Given the description of an element on the screen output the (x, y) to click on. 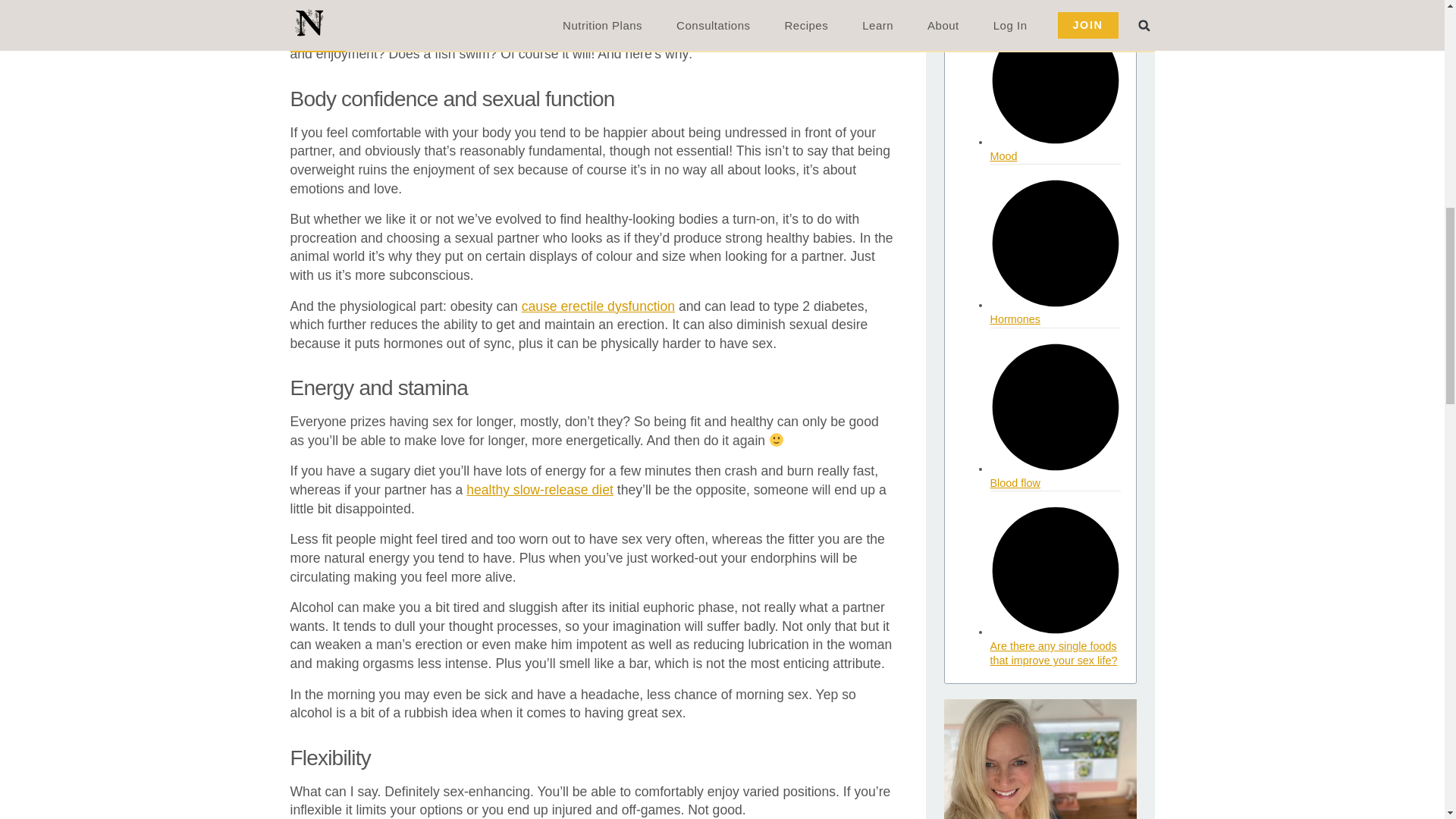
healthy slow-release diet (538, 489)
cause erectile dysfunction (598, 305)
Mood (1003, 155)
